Given the description of an element on the screen output the (x, y) to click on. 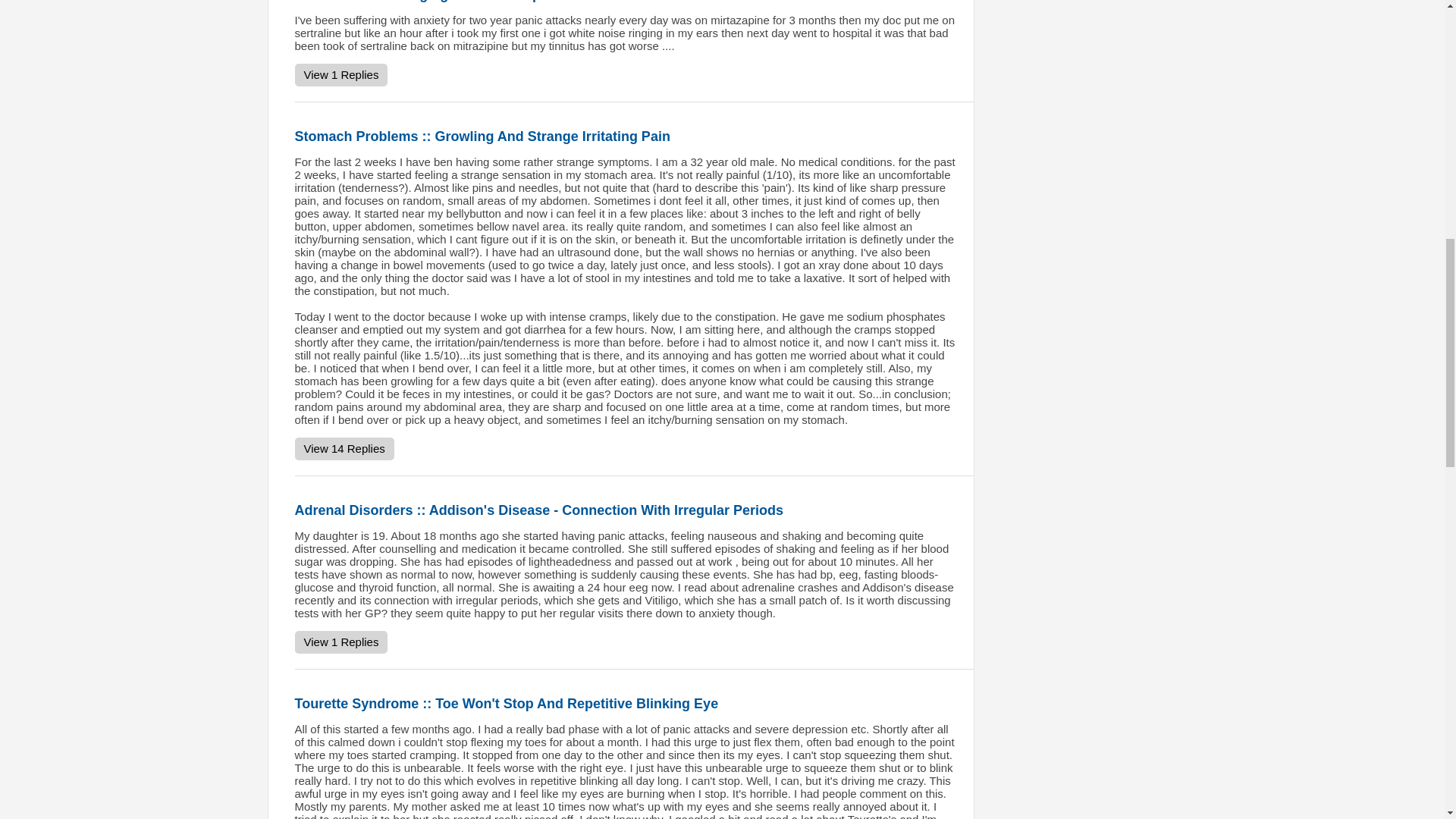
View 1 Replies (340, 74)
View 1 Replies (340, 641)
View 14 Replies (343, 448)
Stomach Problems :: Growling And Strange Irritating Pain (481, 136)
